Given the description of an element on the screen output the (x, y) to click on. 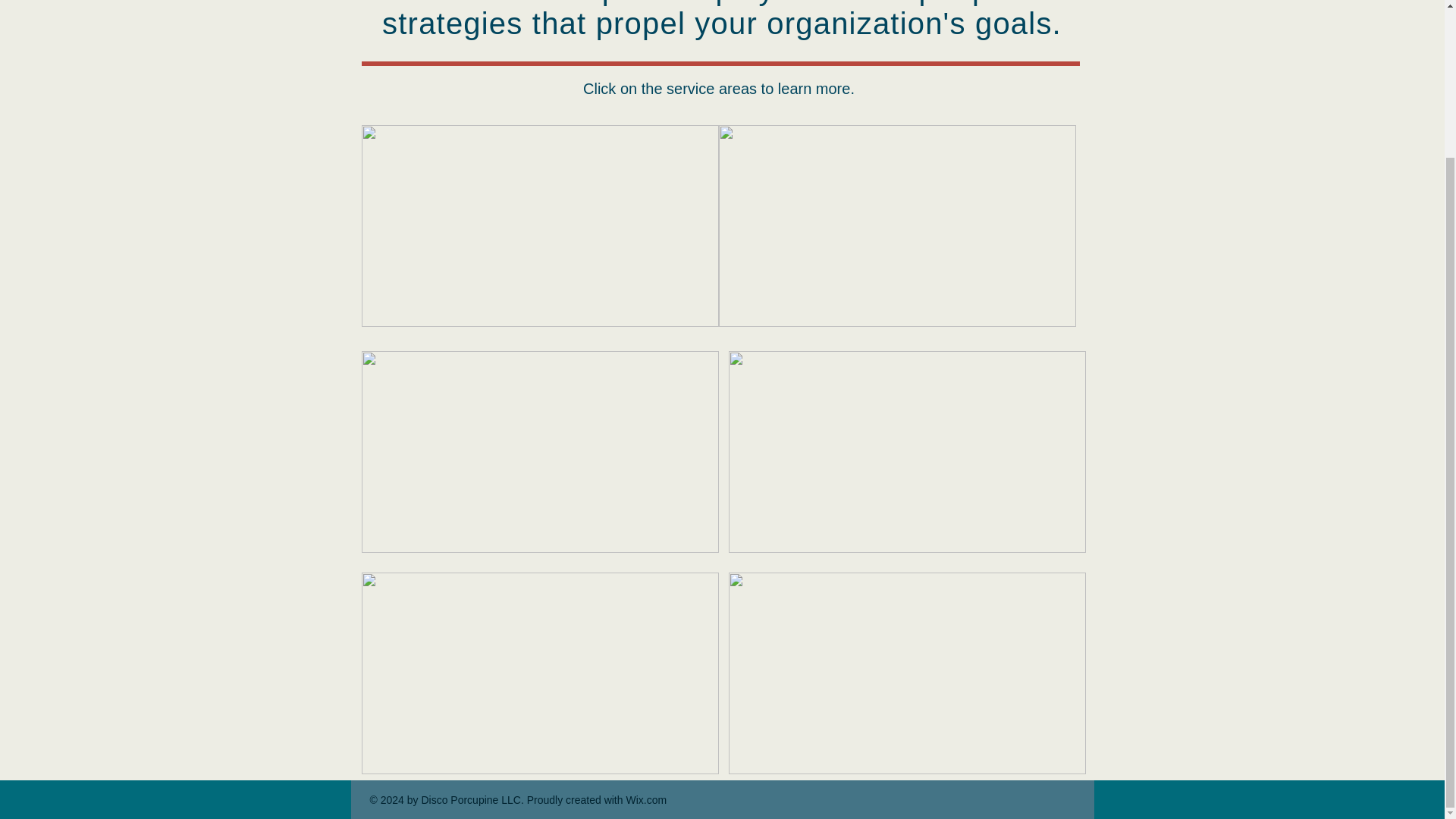
Wix.com (646, 799)
Copy of Service Tab Icons - Performance Management.png (906, 672)
Copy of FINAL Service Tab Icons - Culture.png (539, 451)
FINAL Service Tab Icons - Integrated People Strategy.png (539, 225)
FINAL Service Tab Icons - Talent Management.png (539, 672)
FINAL Service Tab Icons - HR Modernization.png (906, 451)
FINAL Service Tab Icons - Culture.png (897, 225)
